Given the description of an element on the screen output the (x, y) to click on. 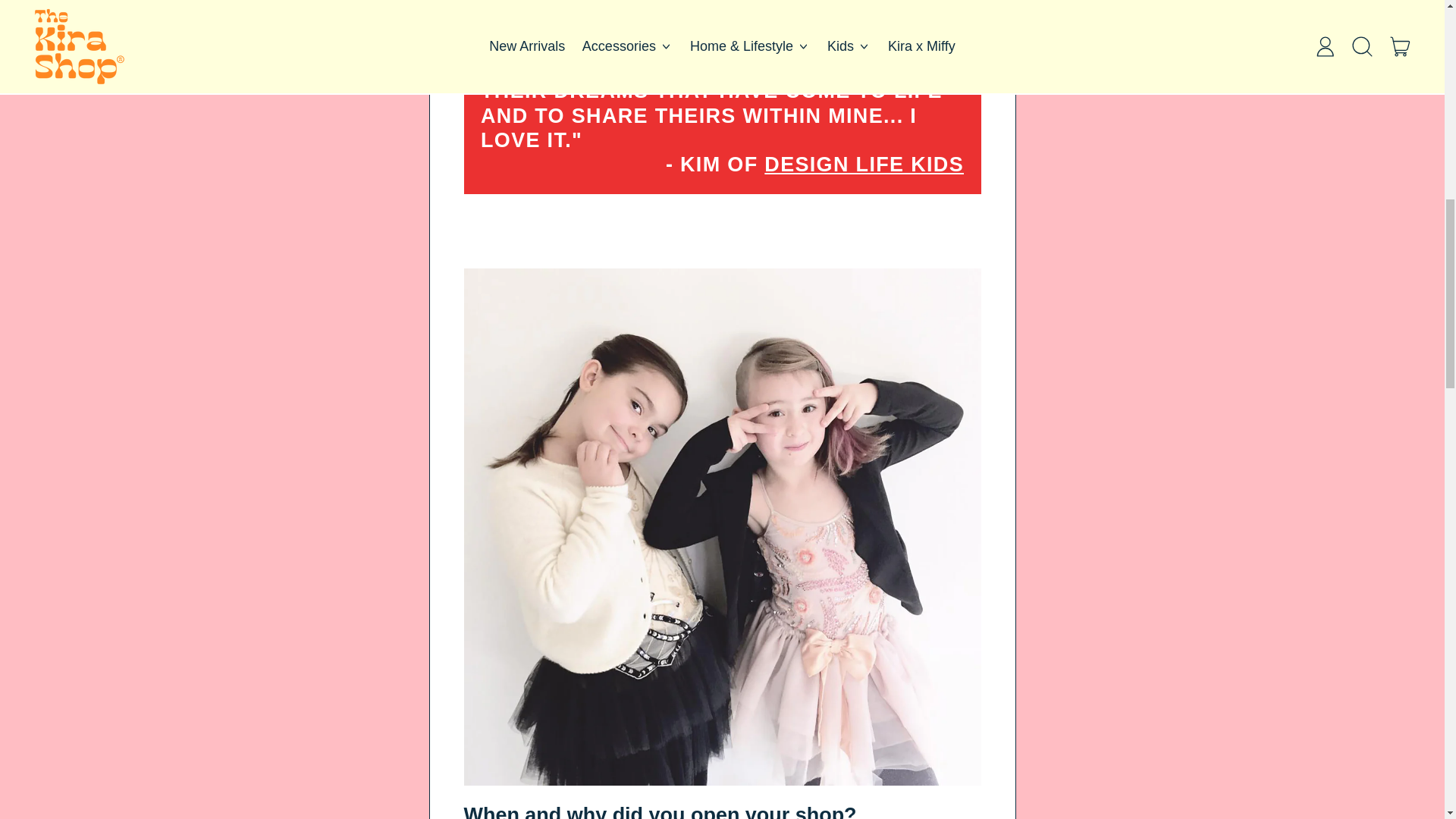
DESIGN LIFE KIDS (863, 164)
